Given the description of an element on the screen output the (x, y) to click on. 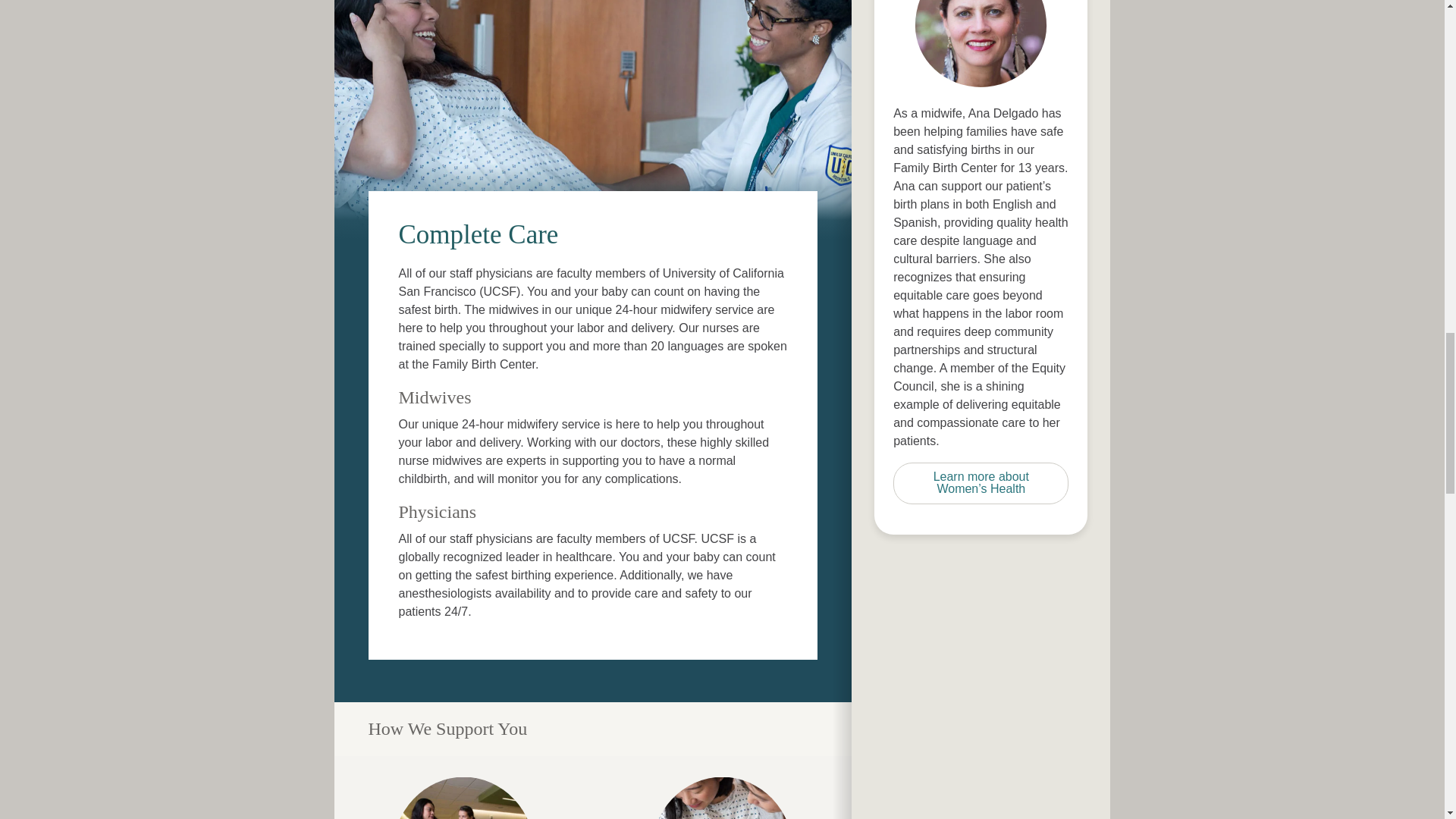
delgado-1x1 (980, 52)
